Given the description of an element on the screen output the (x, y) to click on. 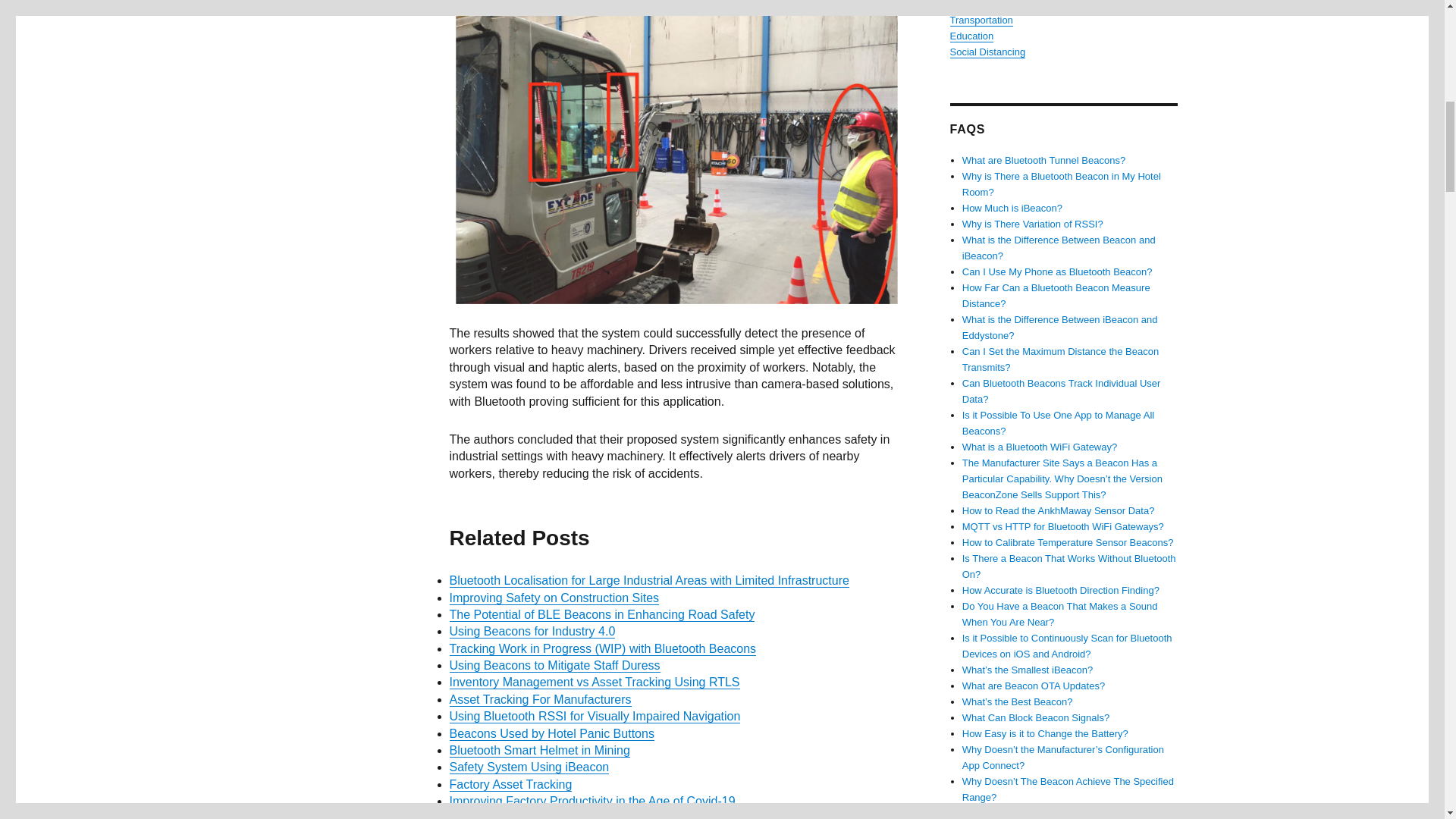
Bluetooth Smart Helmet in Mining (538, 749)
Inventory Management vs Asset Tracking Using RTLS (593, 681)
Using Beacons for Industry 4.0 (531, 631)
System for Searching Factory Stock (545, 815)
Safety System Using iBeacon (528, 766)
Asset Tracking For Manufacturers (539, 698)
Asset Tracking For Manufacturers (539, 698)
Improving Factory Productivity in the Age of Covid-19 (591, 800)
Using Beacons to Mitigate Staff Duress (553, 665)
